Given the description of an element on the screen output the (x, y) to click on. 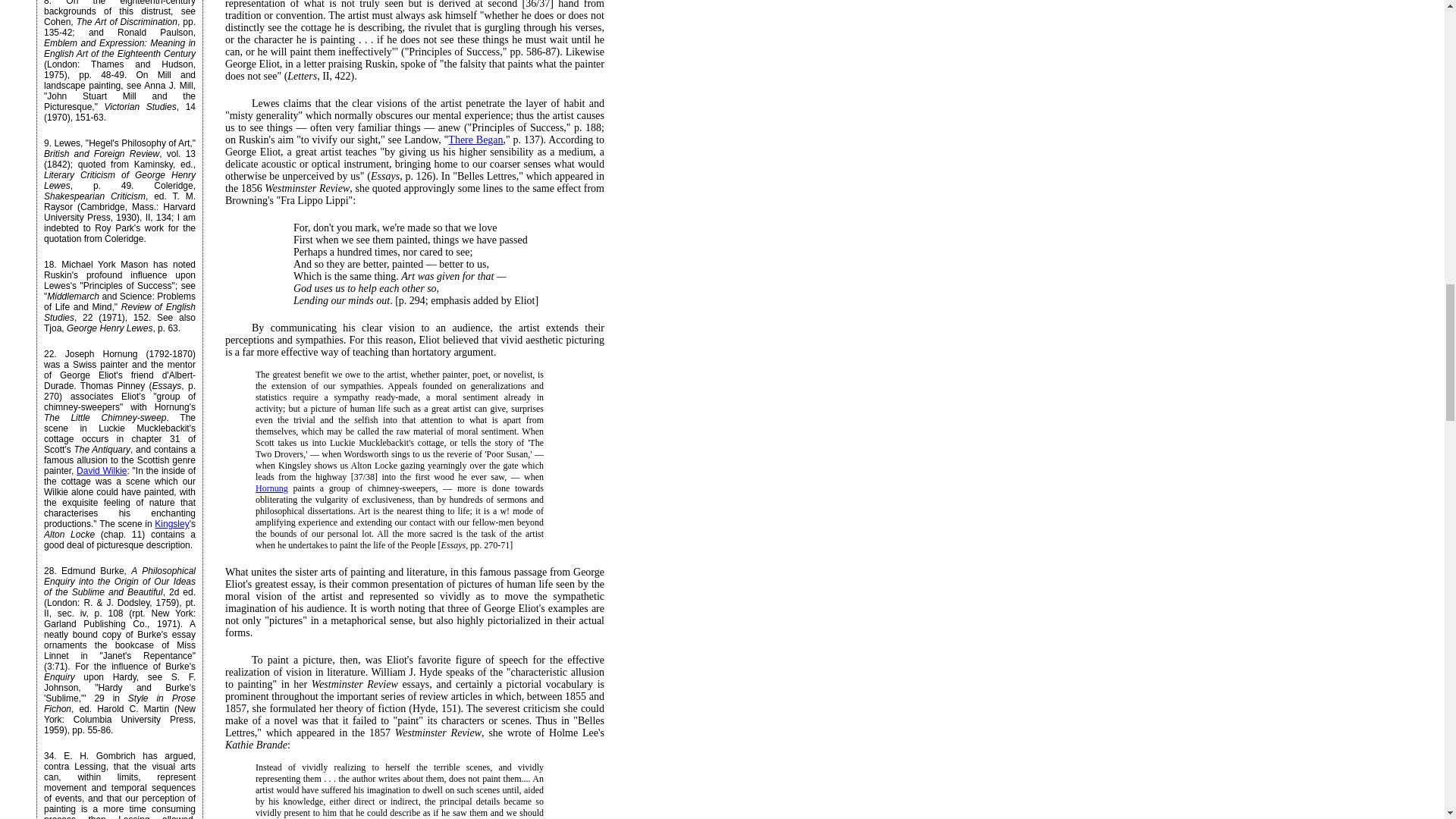
22 (48, 353)
28 (48, 570)
Kingsley (171, 523)
18 (48, 264)
David Wilkie (101, 470)
34 (48, 756)
